Given the description of an element on the screen output the (x, y) to click on. 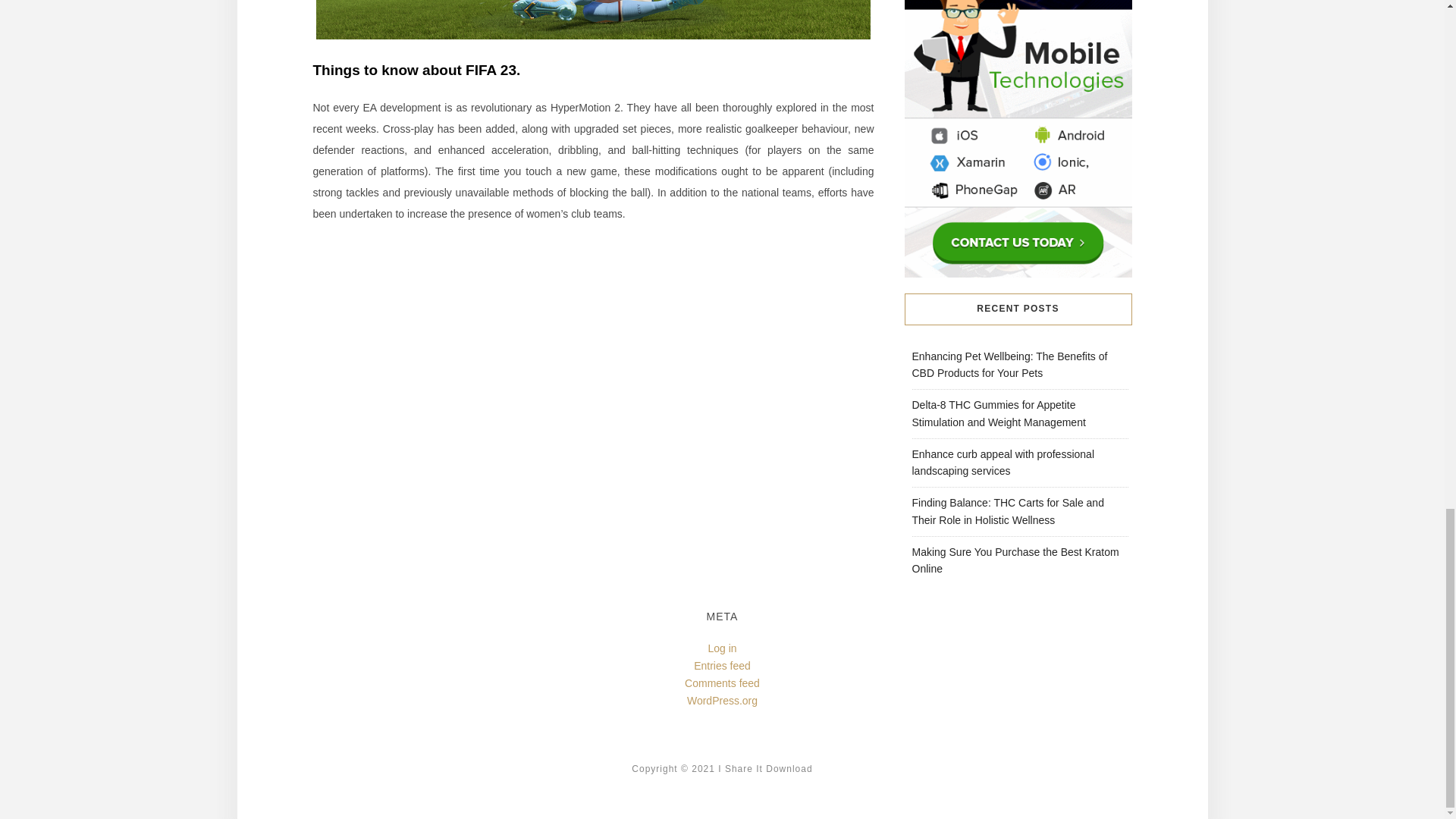
Enhance curb appeal with professional landscaping services (1002, 462)
